Given the description of an element on the screen output the (x, y) to click on. 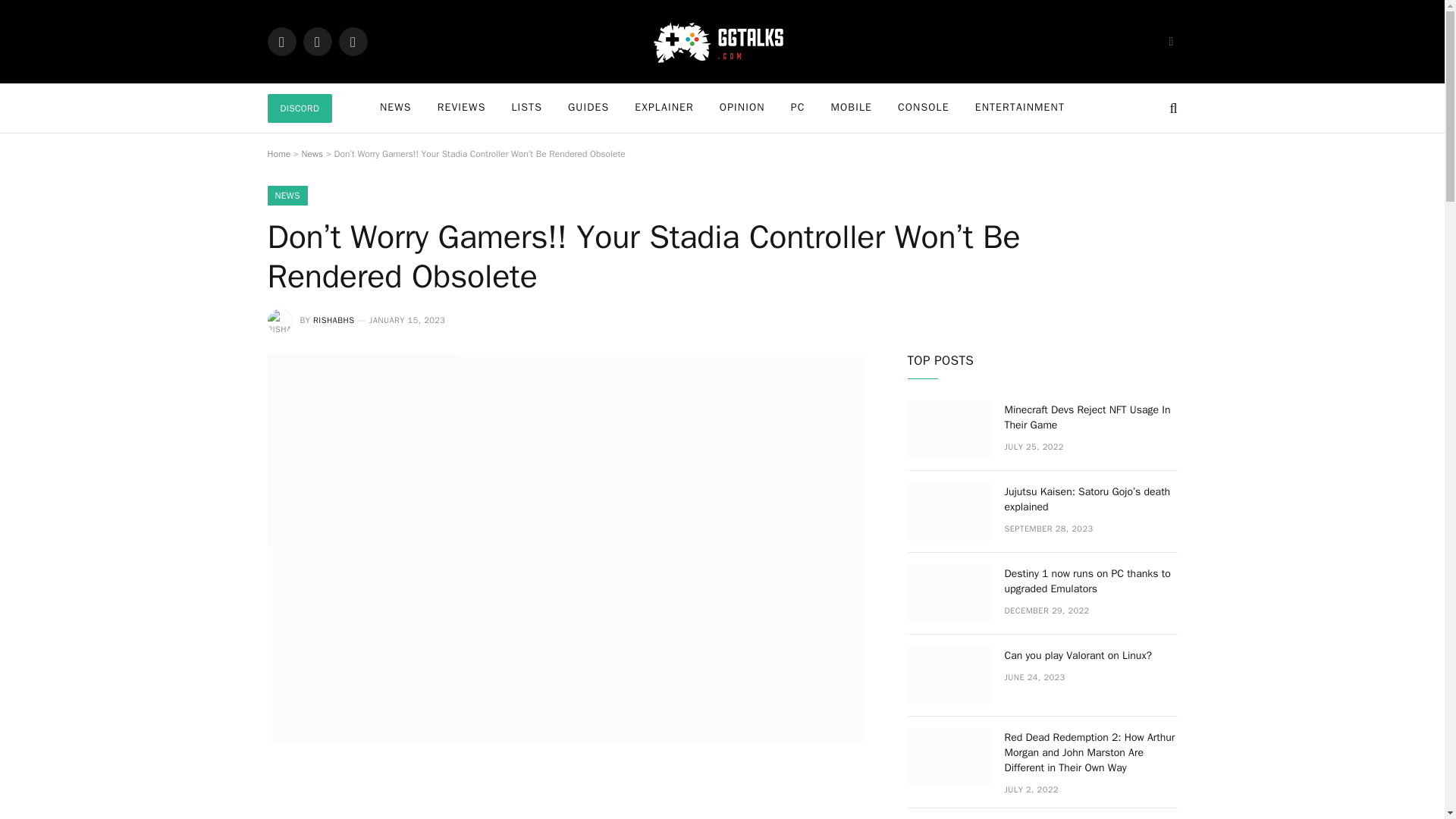
ENTERTAINMENT (1019, 107)
REVIEWS (462, 107)
EXPLAINER (663, 107)
News (312, 153)
NEWS (286, 195)
MOBILE (850, 107)
GGTalks (721, 41)
Posts by Rishabhs (333, 319)
CONSOLE (923, 107)
DISCORD (298, 108)
